Given the description of an element on the screen output the (x, y) to click on. 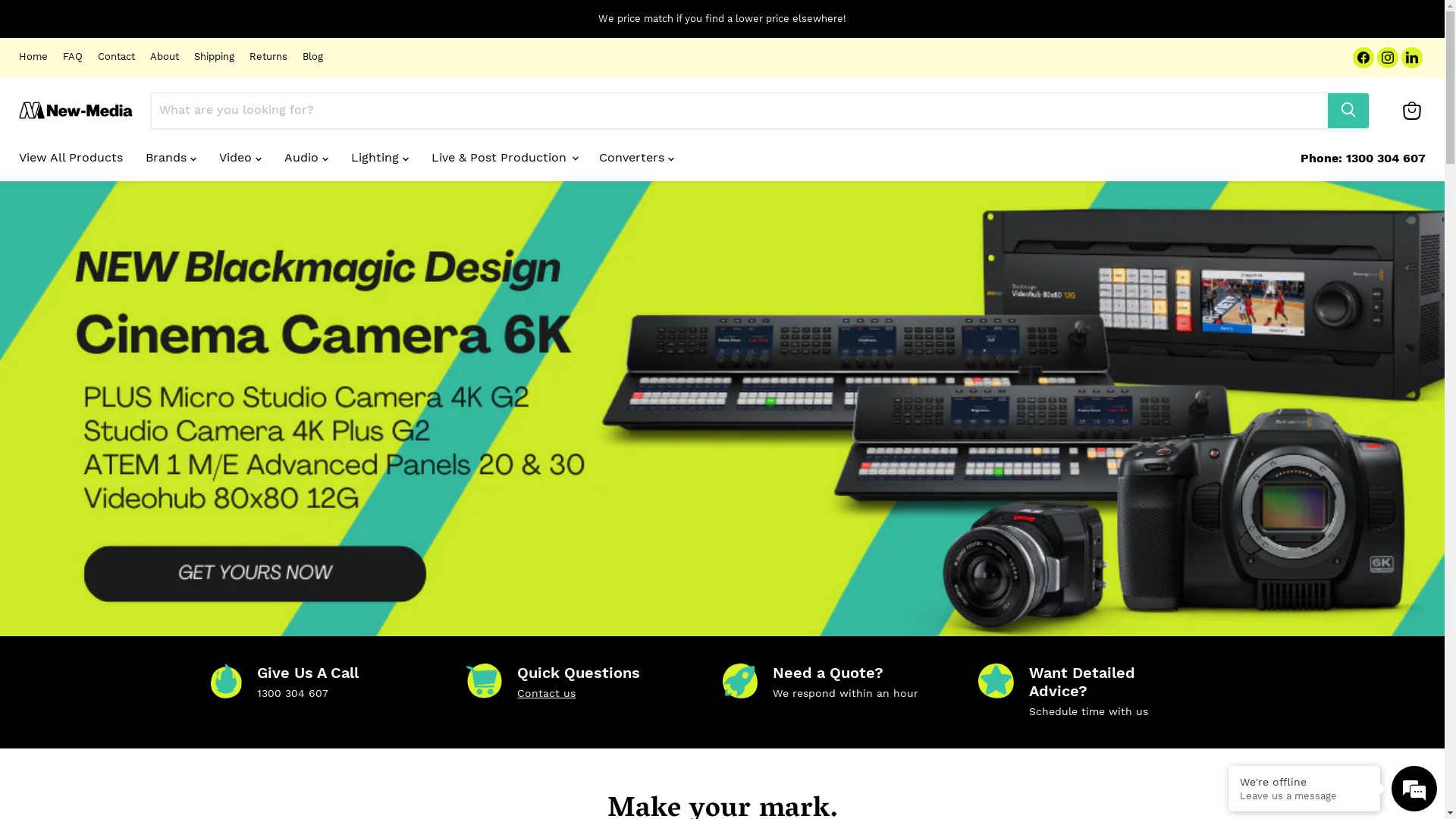
Find us on LinkedIn Element type: text (1411, 57)
FAQ Element type: text (72, 56)
About Element type: text (164, 56)
Find us on Facebook Element type: text (1363, 57)
View cart Element type: text (1411, 110)
Blog Element type: text (312, 56)
Returns Element type: text (268, 56)
Contact us Element type: text (546, 693)
Contact Element type: text (115, 56)
Home Element type: text (32, 56)
View All Products Element type: text (70, 156)
Phone: 1300 304 607 Element type: text (1363, 158)
Shipping Element type: text (214, 56)
Find us on Instagram Element type: text (1387, 57)
